Given the description of an element on the screen output the (x, y) to click on. 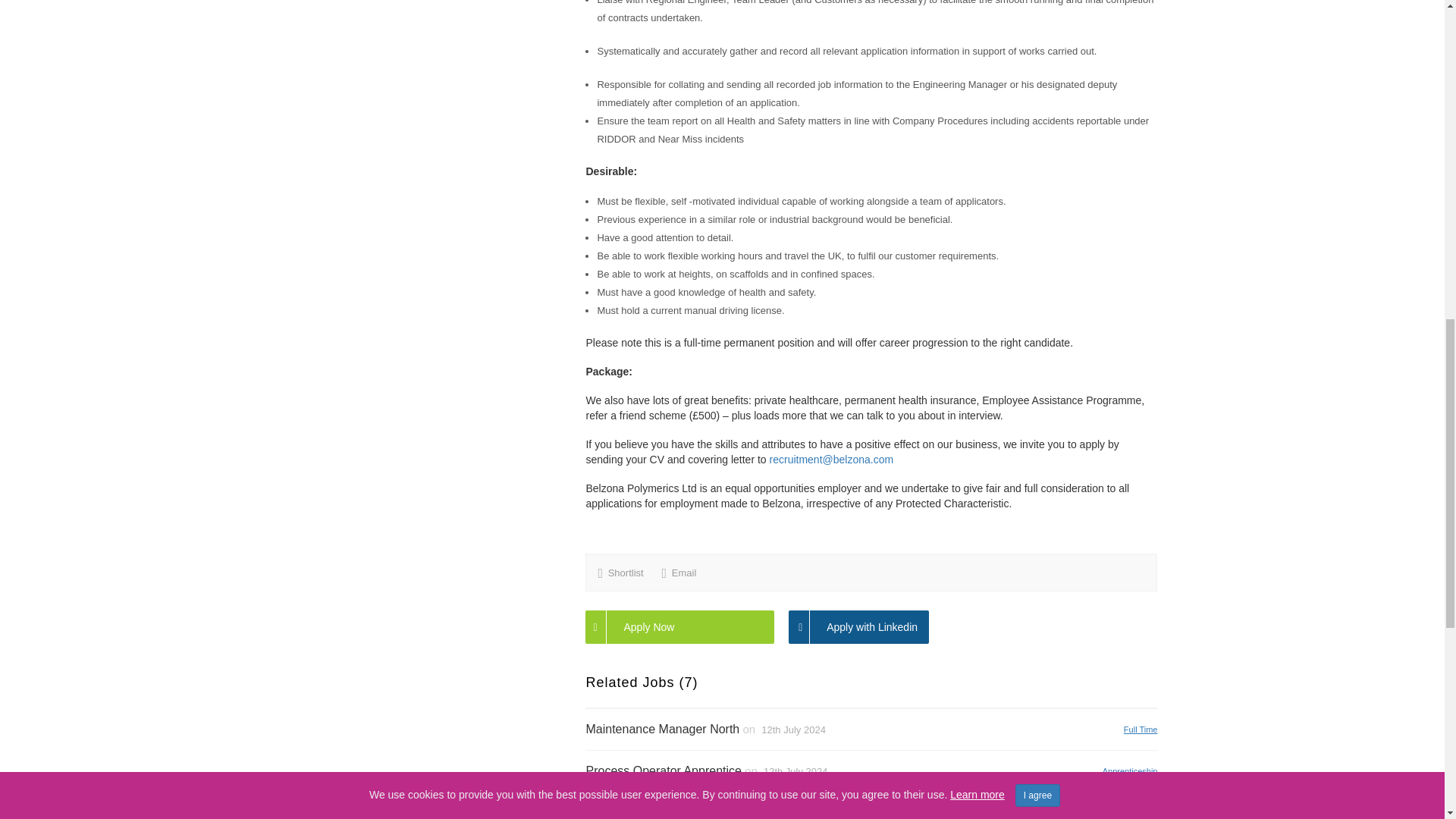
Production Operative (641, 812)
Email (684, 572)
Apprenticeship (1129, 769)
Apply Now (679, 626)
Process Operator Apprentice (663, 770)
Full Time (1140, 811)
Shortlist (625, 572)
Apply with Linkedin (858, 626)
Maintenance Manager North (662, 728)
Full Time (1140, 728)
